Given the description of an element on the screen output the (x, y) to click on. 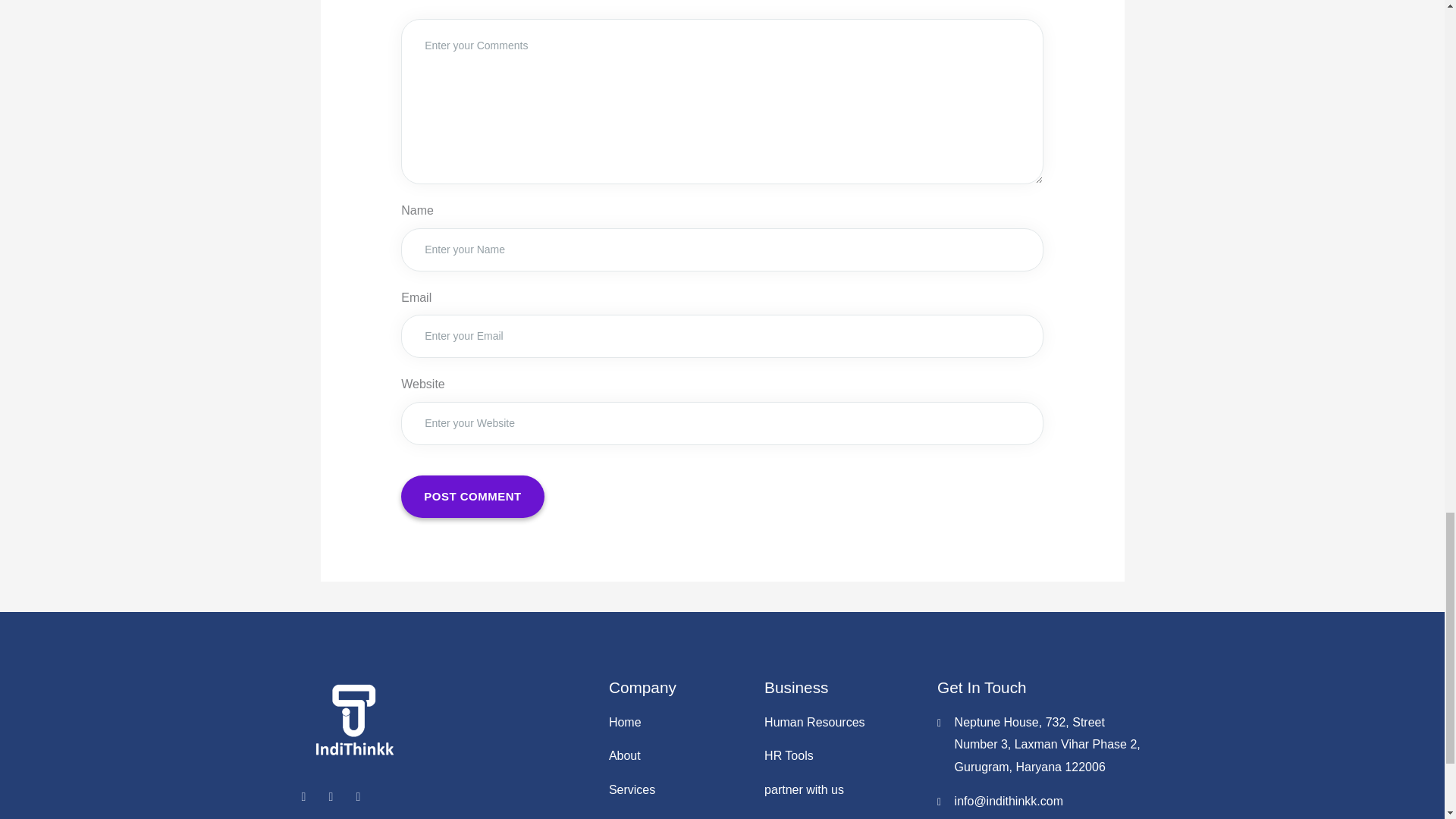
About (678, 755)
HR Tools (842, 755)
Home (678, 722)
Services (678, 789)
Human Resources (842, 722)
partner with us (842, 789)
Post Comment (472, 496)
Careers (842, 816)
Post Comment (472, 496)
Contact (678, 816)
